Given the description of an element on the screen output the (x, y) to click on. 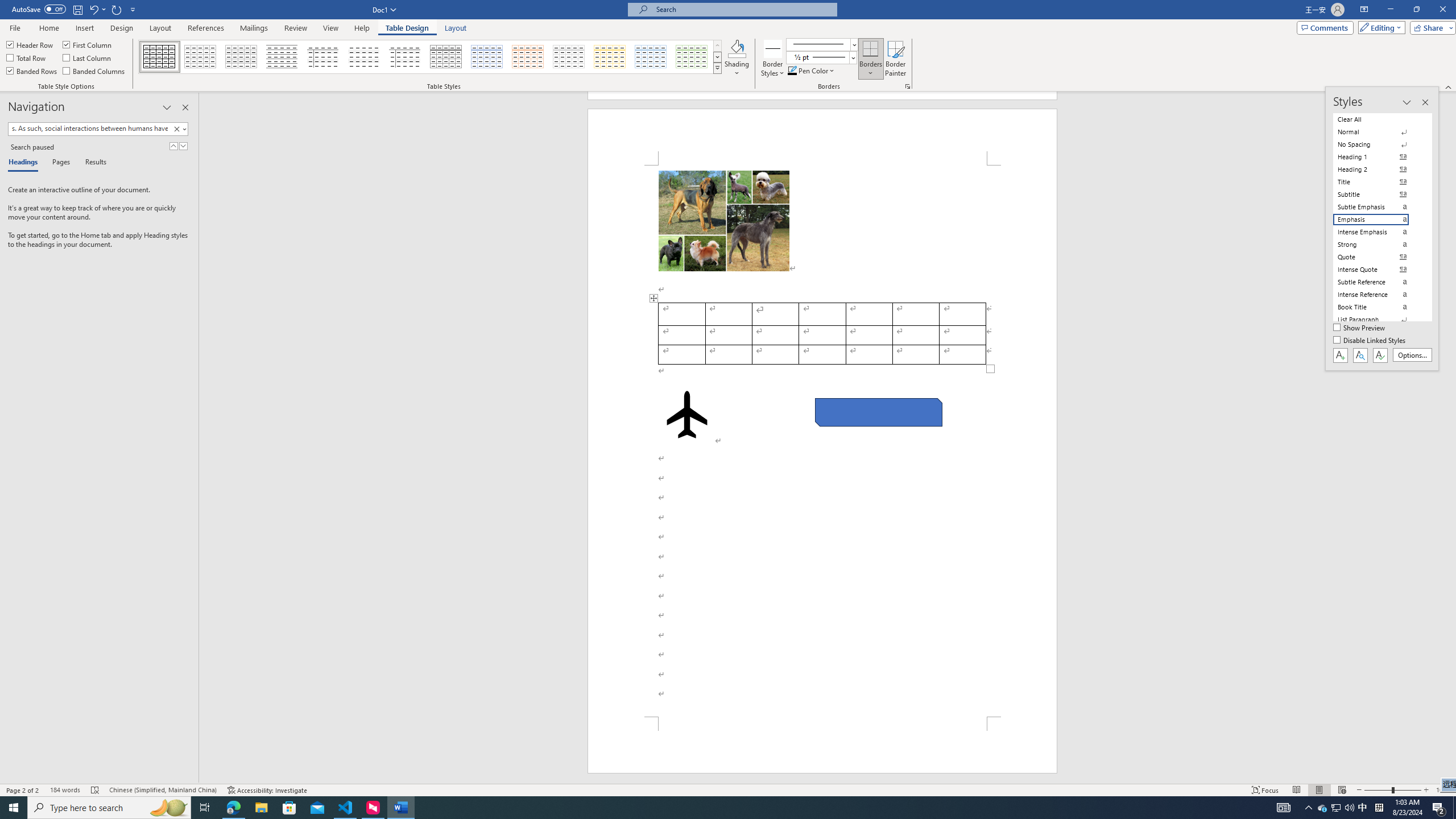
Plain Table 3 (322, 56)
Grid Table 1 Light - Accent 4 (609, 56)
Grid Table 1 Light - Accent 2 (528, 56)
Borders and Shading... (907, 85)
Subtle Emphasis (1377, 206)
Grid Table 1 Light - Accent 6 (691, 56)
Grid Table 1 Light (446, 56)
Pen Style (821, 44)
Intense Reference (1377, 294)
Border Styles (773, 58)
Plain Table 5 (405, 56)
